Given the description of an element on the screen output the (x, y) to click on. 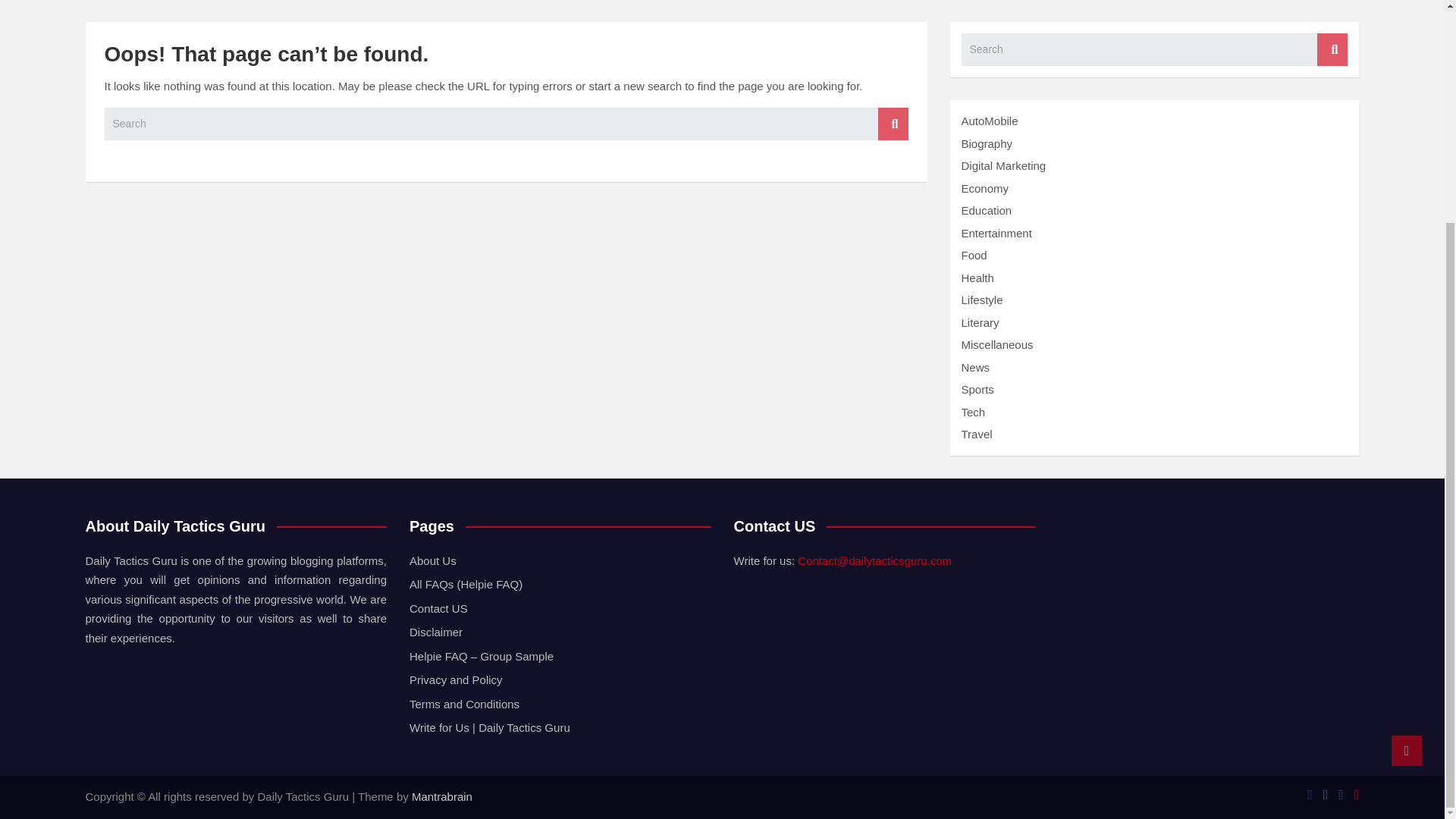
Literary (979, 322)
Digital Marketing (1003, 164)
Food (973, 254)
Education (985, 210)
Economy (984, 187)
Lifestyle (981, 299)
Entertainment (996, 232)
Search (892, 123)
AutoMobile (988, 120)
Search (1332, 49)
Go to Top (1406, 454)
Biography (986, 143)
Mantrabrain (441, 796)
Health (977, 277)
